Given the description of an element on the screen output the (x, y) to click on. 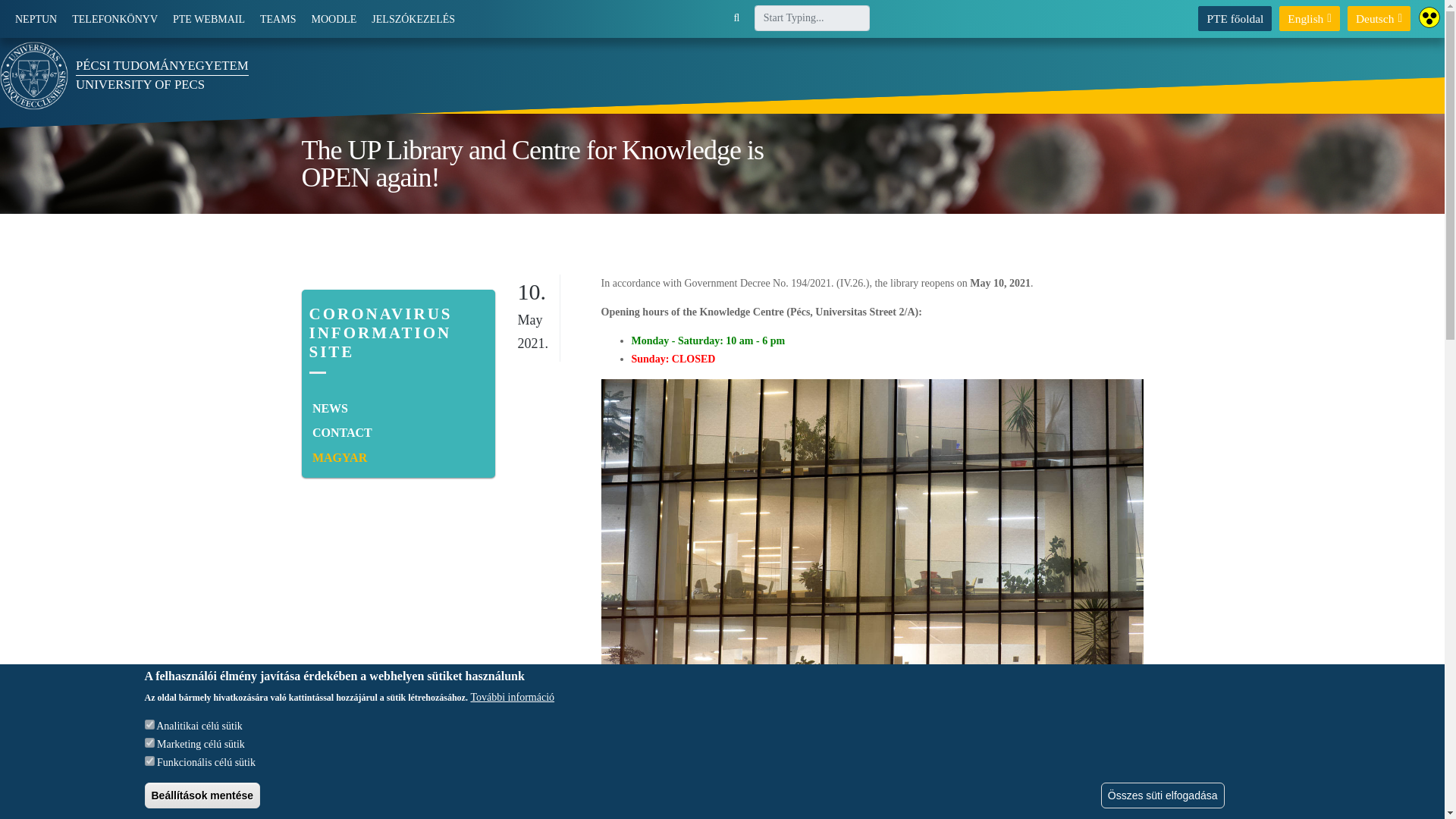
NEPTUN (35, 19)
NEWS (398, 408)
PTE WEBMAIL (208, 19)
Enter the terms you wish to search for. (811, 17)
marketing (149, 742)
CONTACT (398, 432)
UNIVERSITY OF PECS (140, 83)
TEAMS (277, 19)
analitics (149, 724)
MAGYAR (398, 457)
English (1309, 18)
Search (760, 55)
Deutsch (1379, 18)
funkcionalis (149, 760)
